Given the description of an element on the screen output the (x, y) to click on. 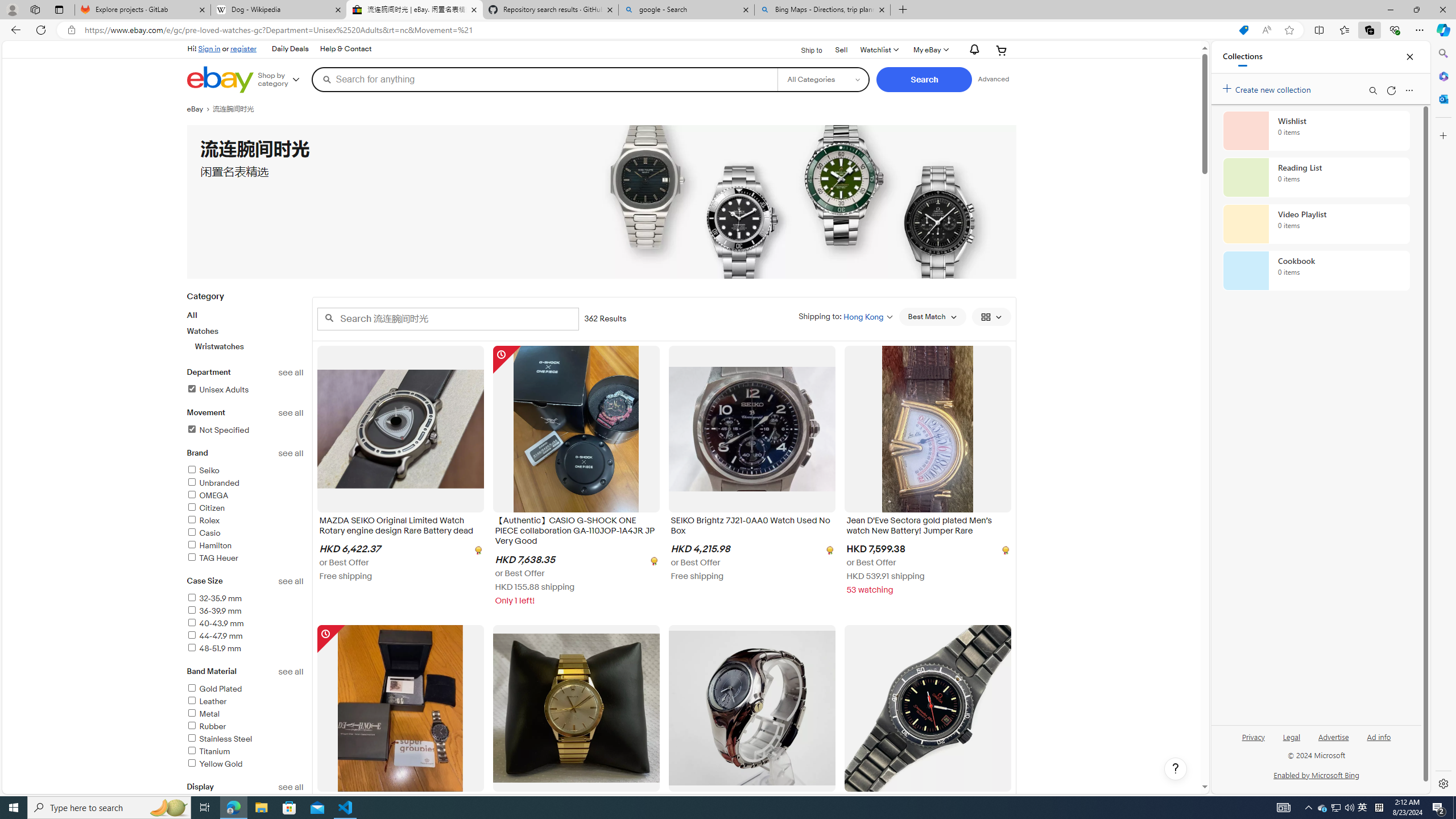
My eBayExpand My eBay (930, 49)
48-51.9 mm (245, 648)
Sort: Best Match (932, 316)
Daily Deals (289, 49)
Search for anything (544, 78)
Titanium (245, 751)
Metal (202, 714)
Video Playlist collection, 0 items (1316, 223)
Sell (841, 49)
WatchesWristwatches (245, 338)
